Given the description of an element on the screen output the (x, y) to click on. 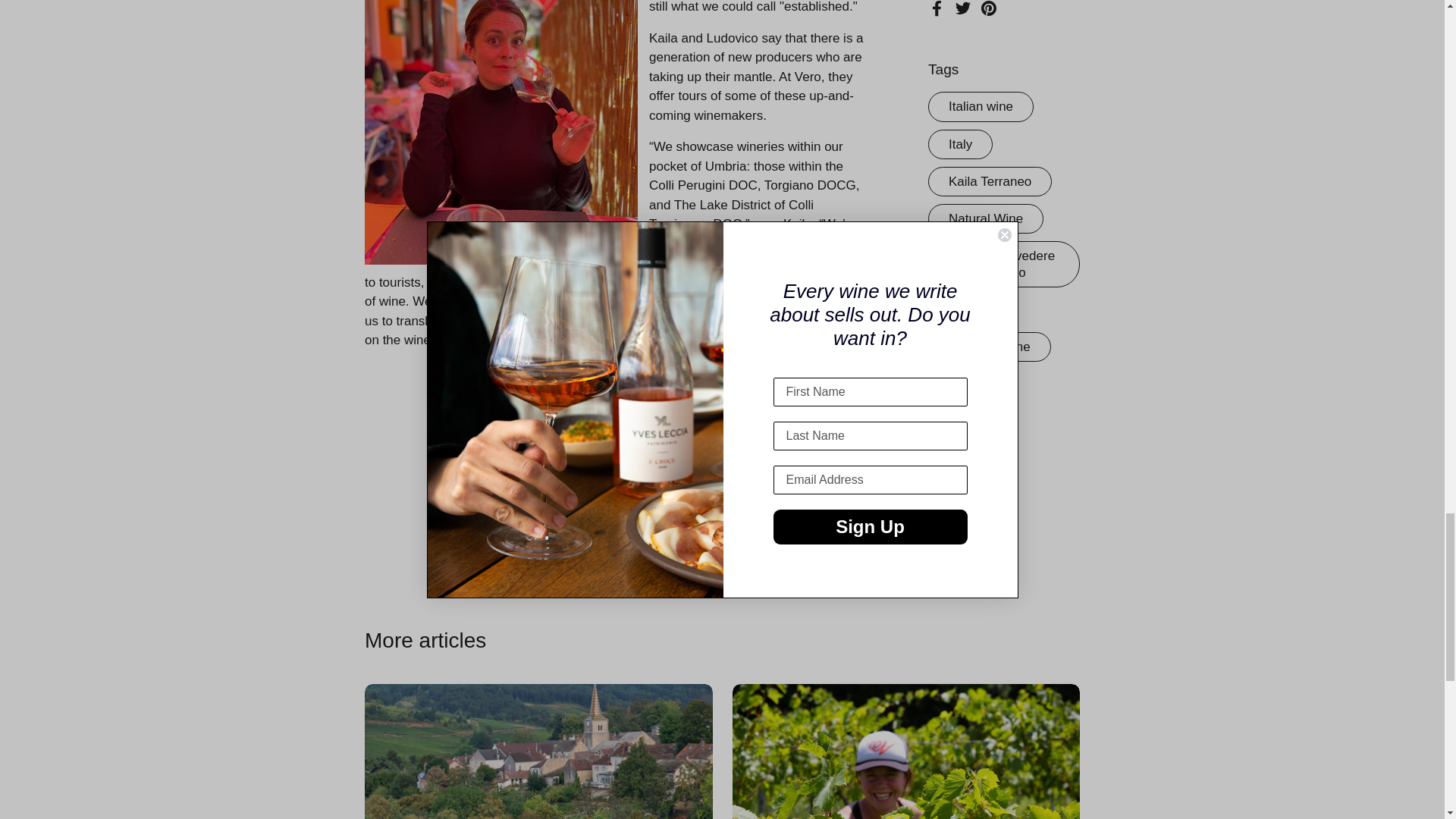
Vermont Wine Scene: Meet Ellison Estate's Kendra Knapik (906, 751)
